Given the description of an element on the screen output the (x, y) to click on. 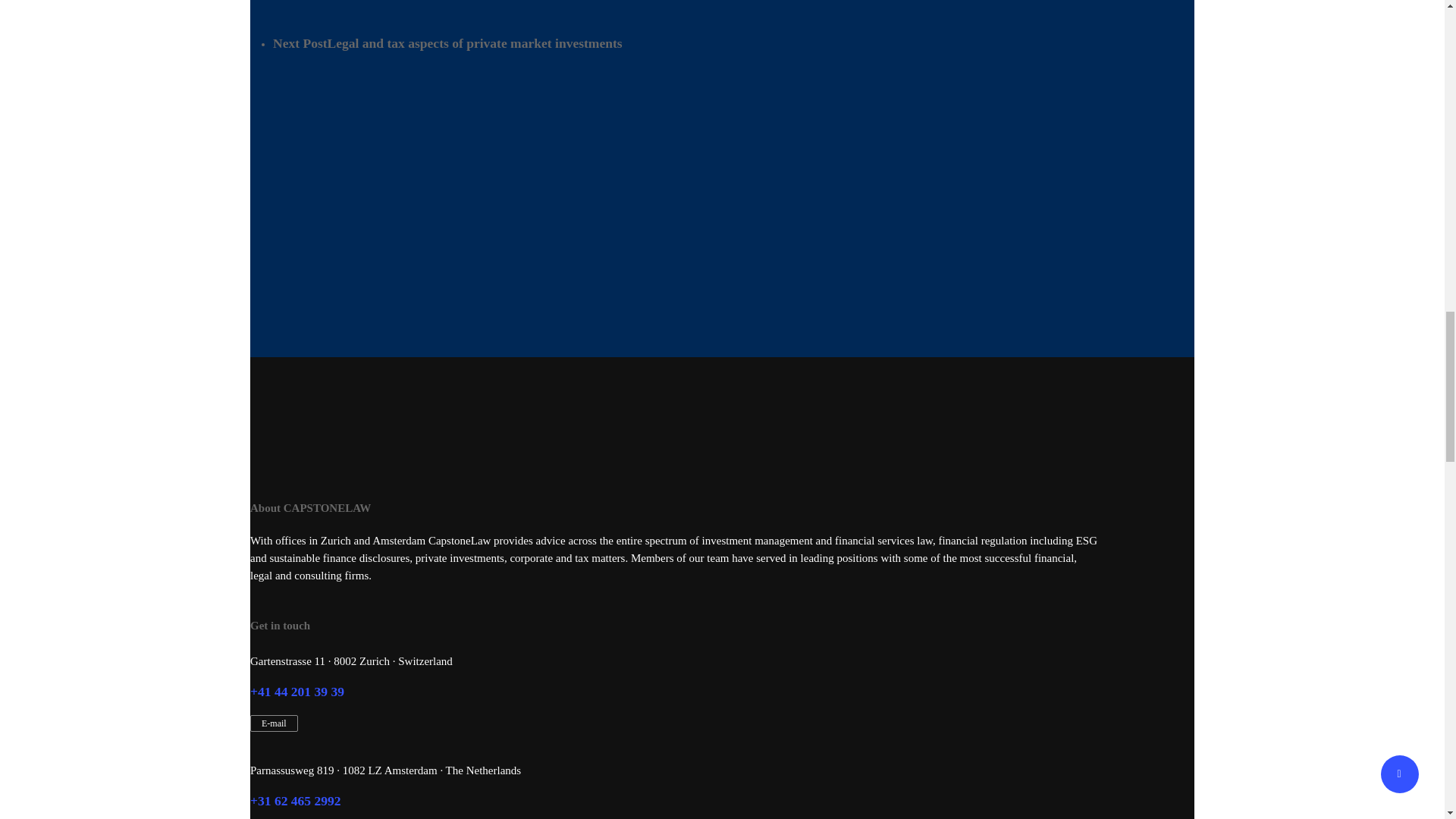
E-mail (274, 723)
